Given the description of an element on the screen output the (x, y) to click on. 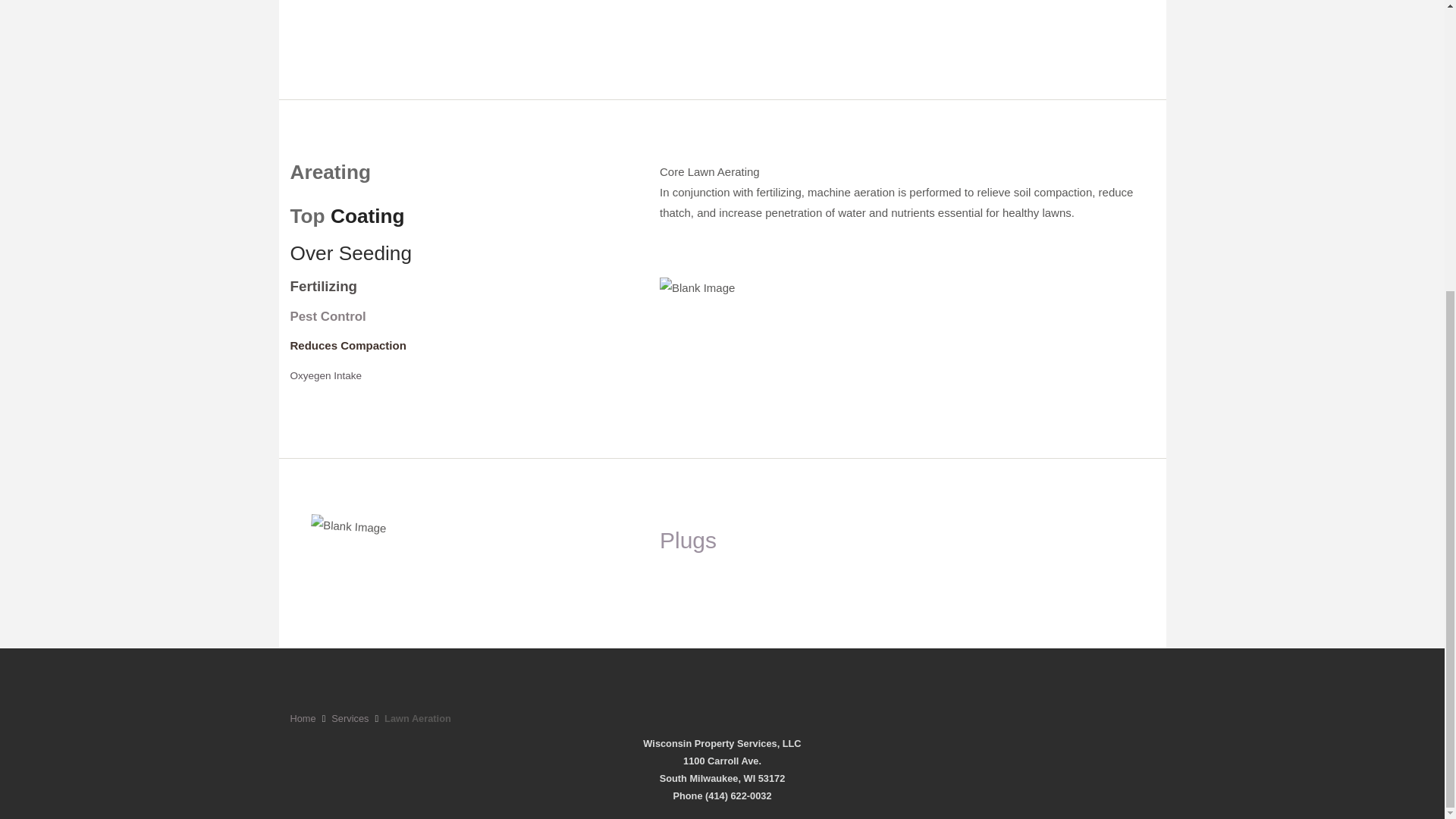
Lawn Aeration (417, 717)
Services (349, 717)
Home (302, 717)
